Given the description of an element on the screen output the (x, y) to click on. 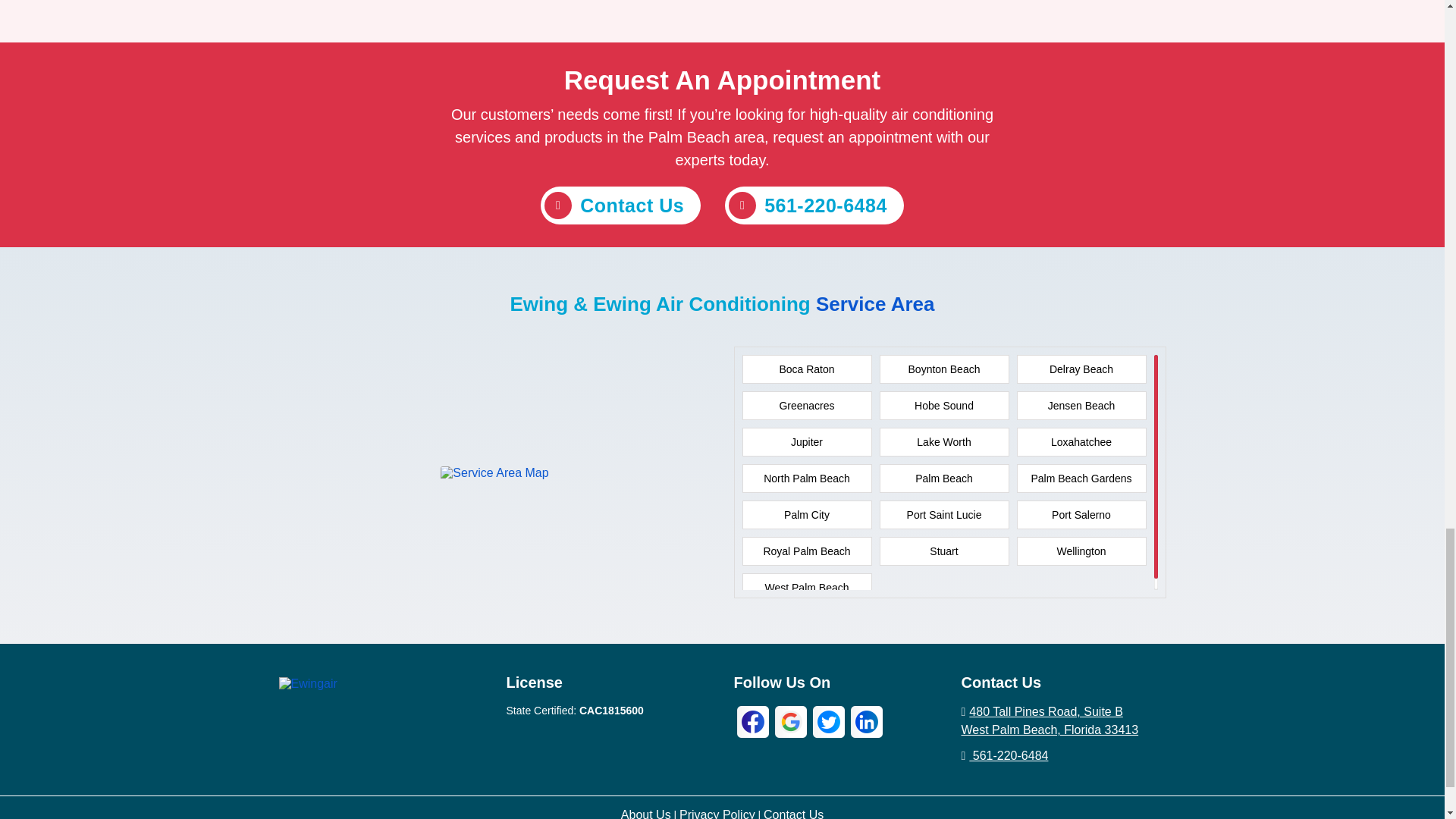
View Facebook (752, 721)
View Twitter (828, 721)
View Google (790, 721)
View LinkedIn (866, 721)
